Given the description of an element on the screen output the (x, y) to click on. 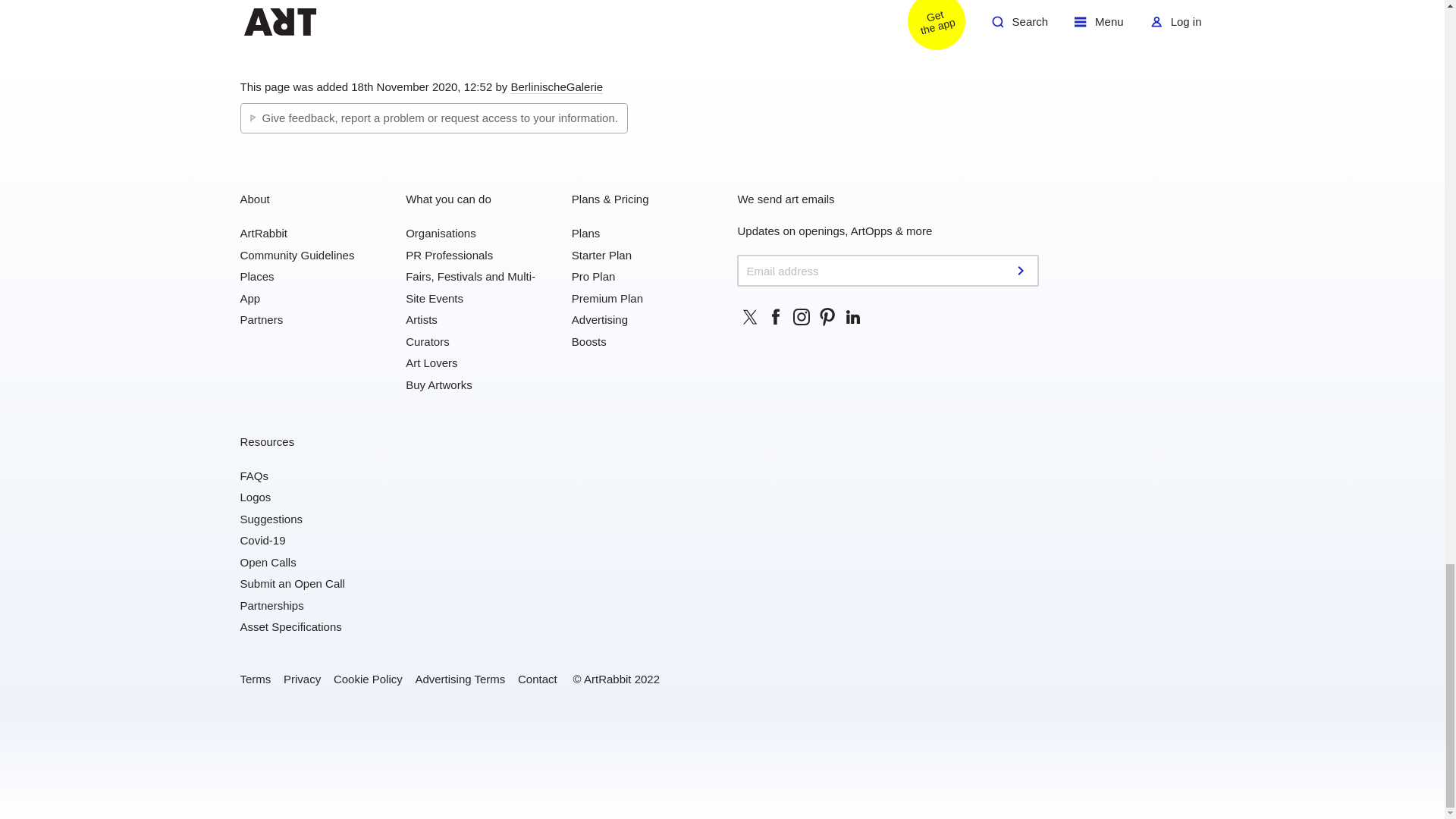
submit (1021, 270)
